Given the description of an element on the screen output the (x, y) to click on. 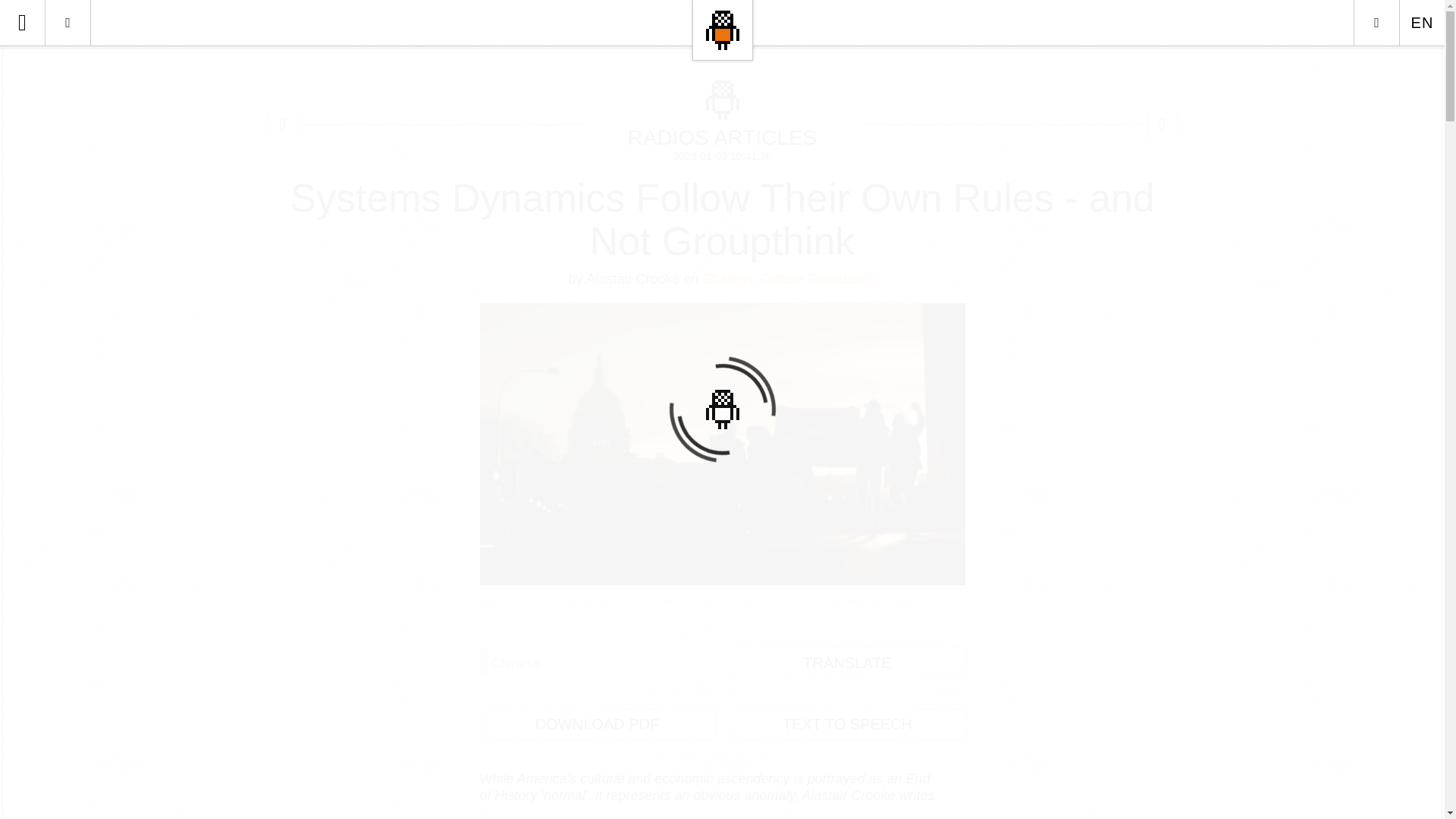
Strategic Culture Foundation (788, 278)
RADIO (130, 250)
text to speech (846, 724)
RobiYogi.com - Professional Responsive Websites (722, 796)
RADIOS DISORDER (130, 387)
radio (67, 22)
PRIVACY (130, 432)
CONTACT (130, 478)
RADIOS VIDEO (130, 296)
enter search phrase... (130, 68)
yes (22, 68)
close (1161, 123)
RADIOS APPLICATION (130, 114)
yes (22, 68)
home page (721, 30)
